Given the description of an element on the screen output the (x, y) to click on. 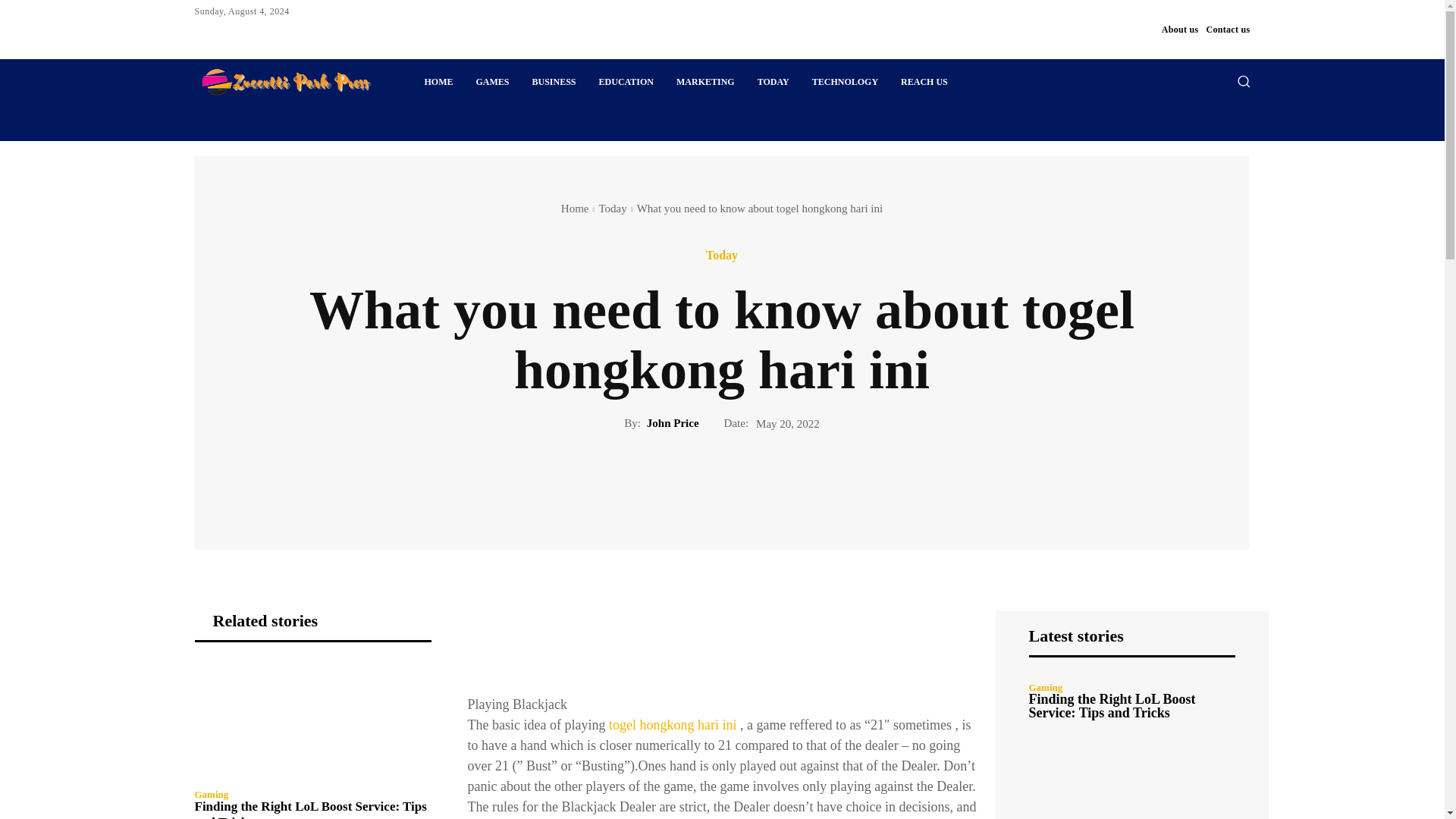
View all posts in Today (612, 208)
TODAY (772, 81)
Contact us (1227, 29)
BUSINESS (554, 81)
Finding the Right LoL Boost Service: Tips and Tricks (309, 809)
MARKETING (705, 81)
About us (1179, 29)
REACH US (924, 81)
TECHNOLOGY (844, 81)
HOME (438, 81)
EDUCATION (626, 81)
GAMES (491, 81)
Finding the Right LoL Boost Service: Tips and Tricks (311, 719)
